Given the description of an element on the screen output the (x, y) to click on. 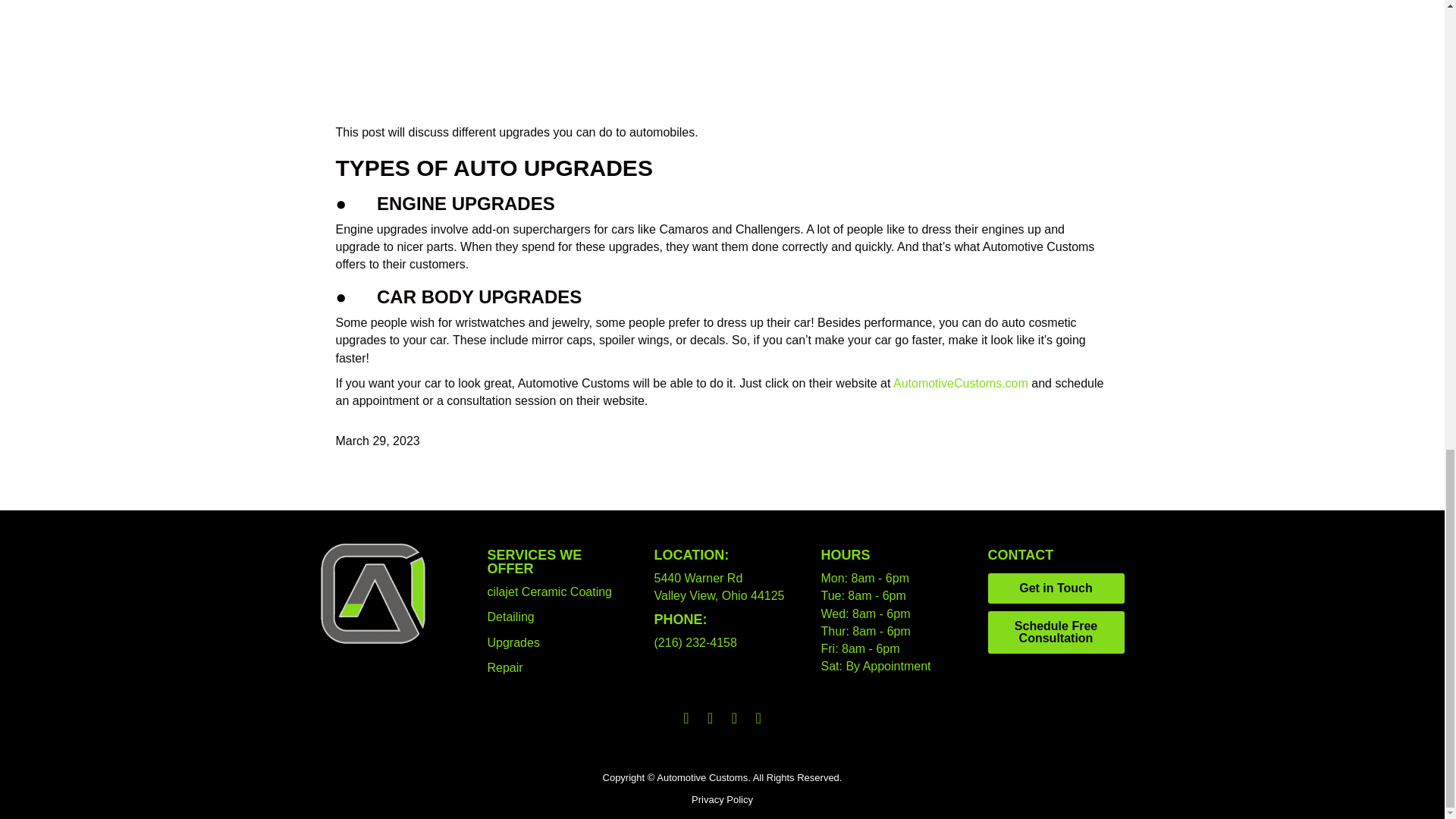
Get in Touch (1055, 588)
5440 Warner Rd (697, 577)
Valley View, Ohio 44125 (718, 594)
Schedule Free Consultation (1055, 631)
Logo Png Updated (373, 593)
AutomotiveCustoms.com (960, 382)
